Given the description of an element on the screen output the (x, y) to click on. 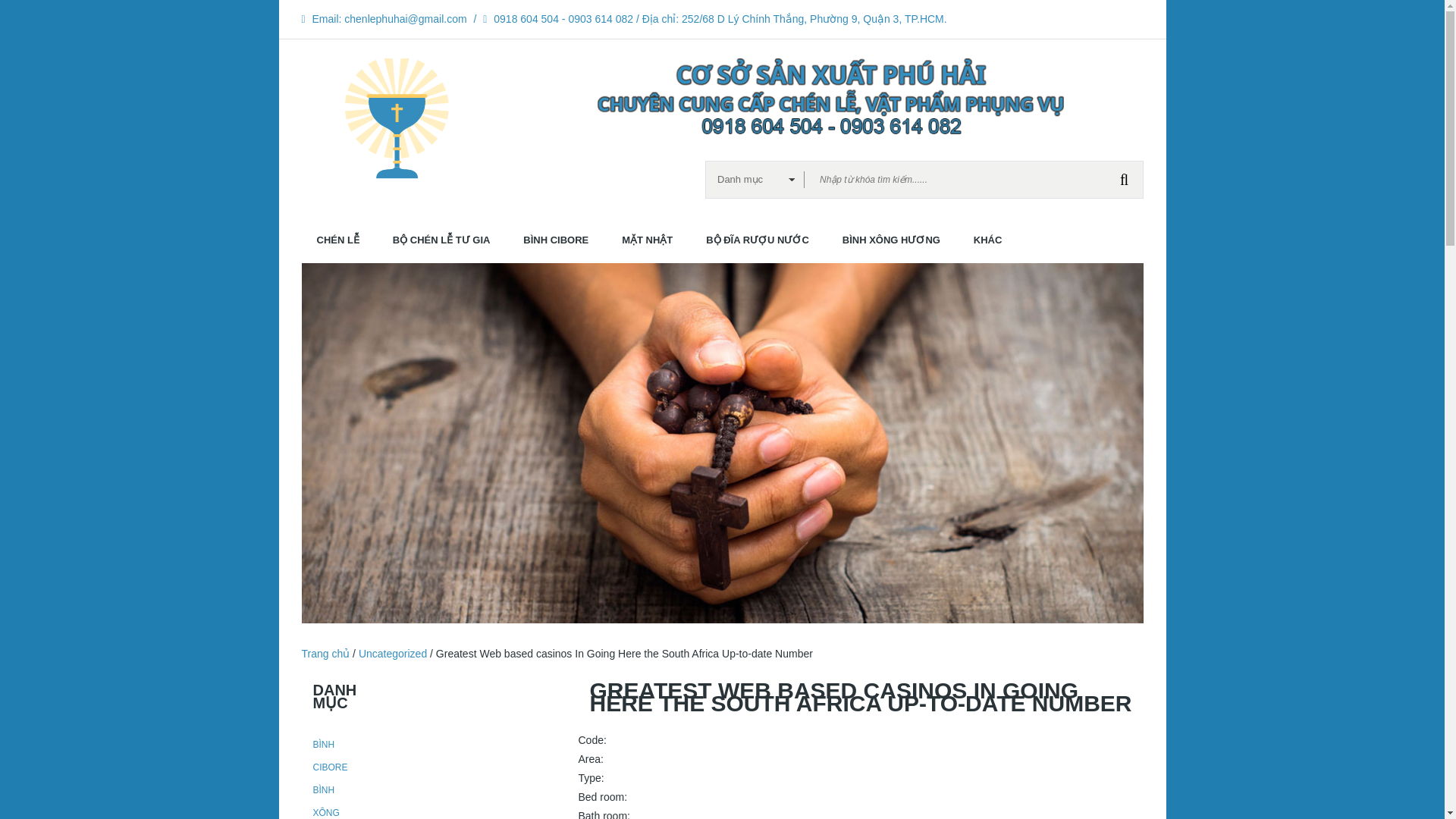
Go to Chen Le Phu Hai. (325, 653)
Go to the Uncategorized category archives. (392, 653)
Uncategorized (392, 653)
